Given the description of an element on the screen output the (x, y) to click on. 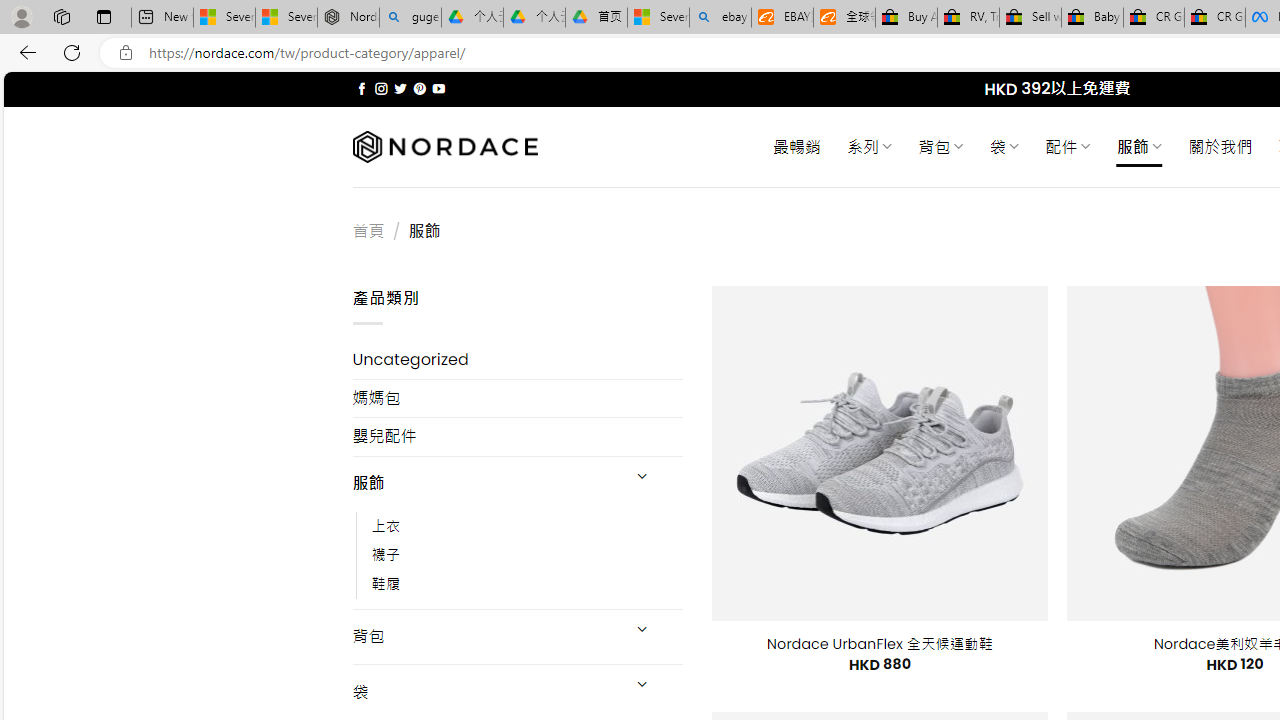
Follow on Facebook (361, 88)
Uncategorized (517, 359)
